Given the description of an element on the screen output the (x, y) to click on. 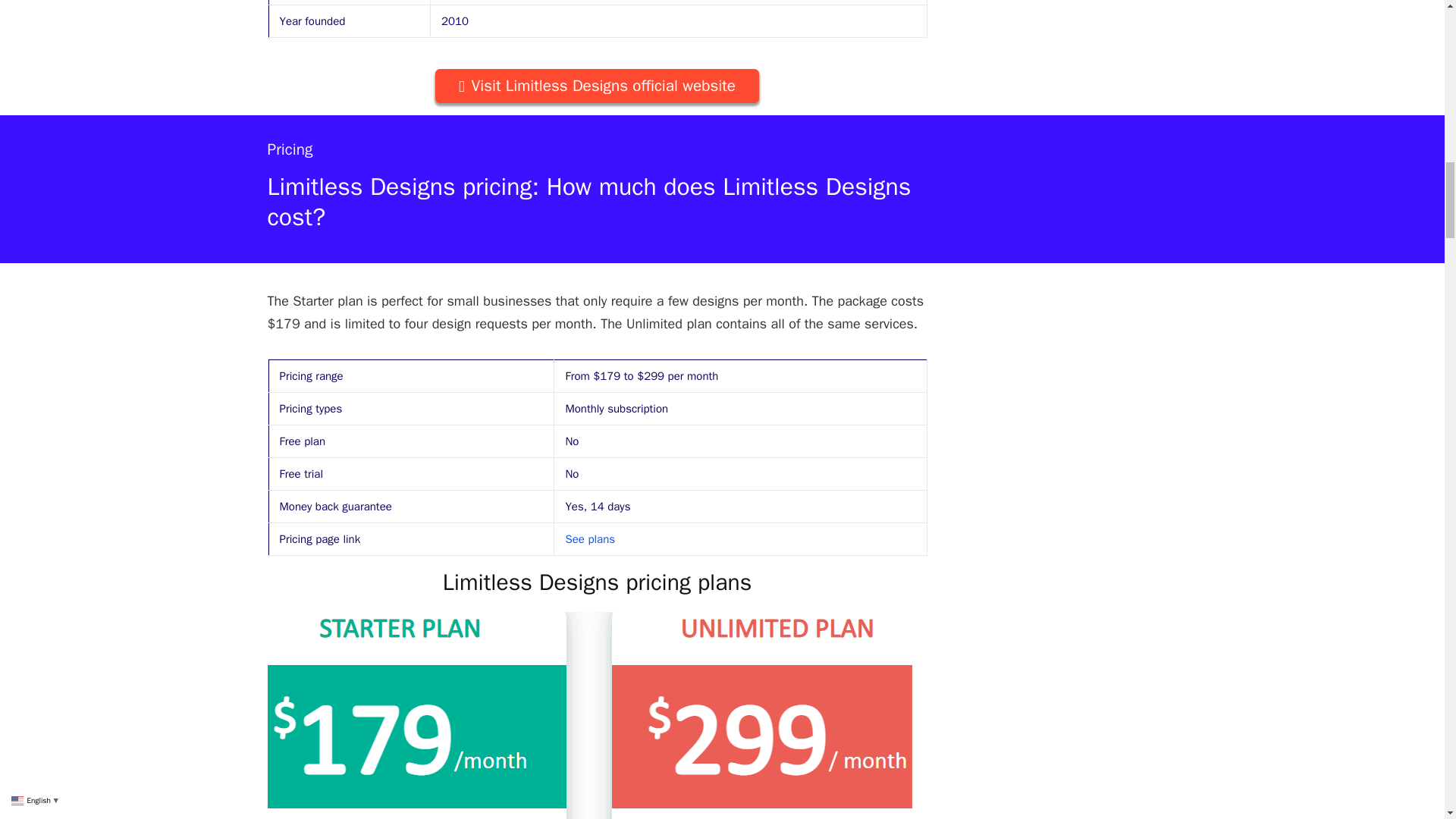
See plans (589, 539)
